Given the description of an element on the screen output the (x, y) to click on. 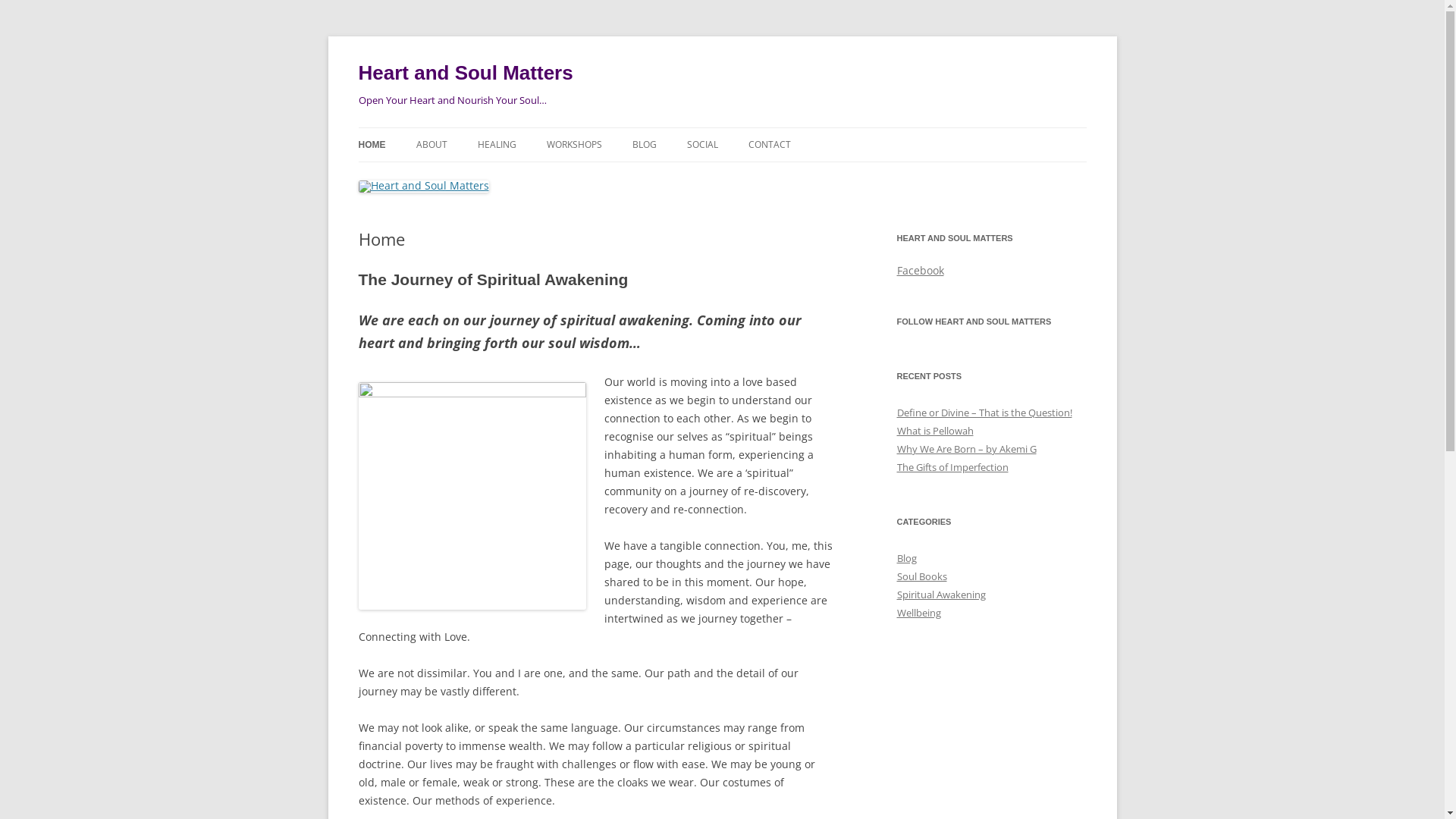
ABOUT Element type: text (430, 144)
CONTACT Element type: text (768, 144)
PELLOWAH Element type: text (553, 176)
Wellbeing Element type: text (918, 612)
Soul Books Element type: text (921, 576)
The Gifts of Imperfection Element type: text (951, 466)
SOCIAL Element type: text (702, 144)
Skip to content Element type: text (721, 127)
PELLOWAH ATTUNEMENTS LEVEL 1 & 11 Element type: text (621, 185)
Facebook Element type: text (919, 270)
Blog Element type: text (906, 557)
HOME Element type: text (371, 144)
Heart and Soul Matters Element type: text (464, 72)
WORKSHOPS Element type: text (573, 144)
HEALING Element type: text (496, 144)
BLOG Element type: text (644, 144)
Spiritual Awakening Element type: text (940, 594)
What is Pellowah Element type: text (934, 430)
